Given the description of an element on the screen output the (x, y) to click on. 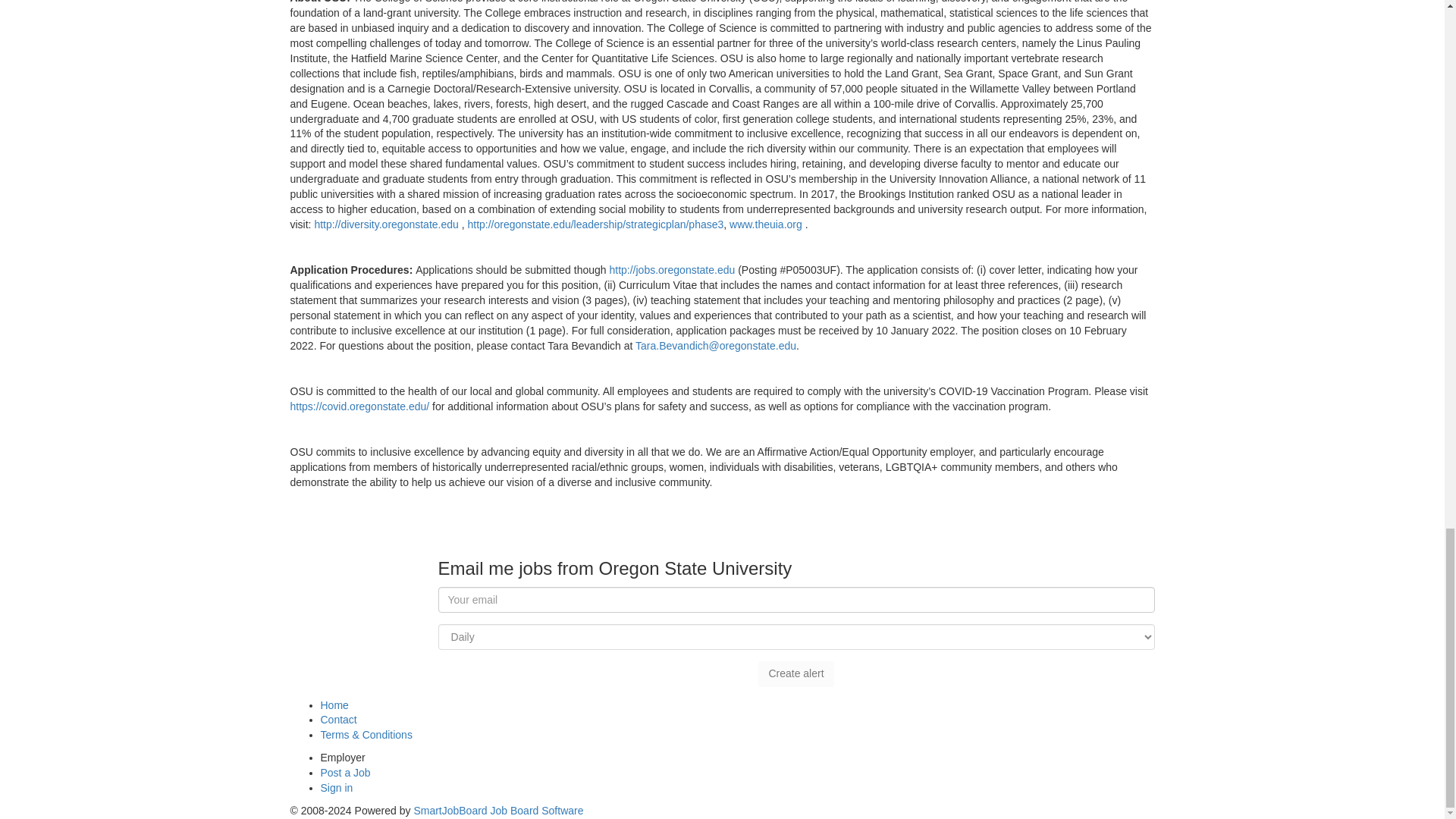
Contact (338, 719)
Create alert (795, 673)
Home (333, 704)
Sign in (336, 787)
Post a Job (344, 772)
SmartJobBoard Job Board Software (498, 810)
www.theuia.org (765, 224)
Job Board Software, Script (498, 810)
Create alert (795, 673)
